Given the description of an element on the screen output the (x, y) to click on. 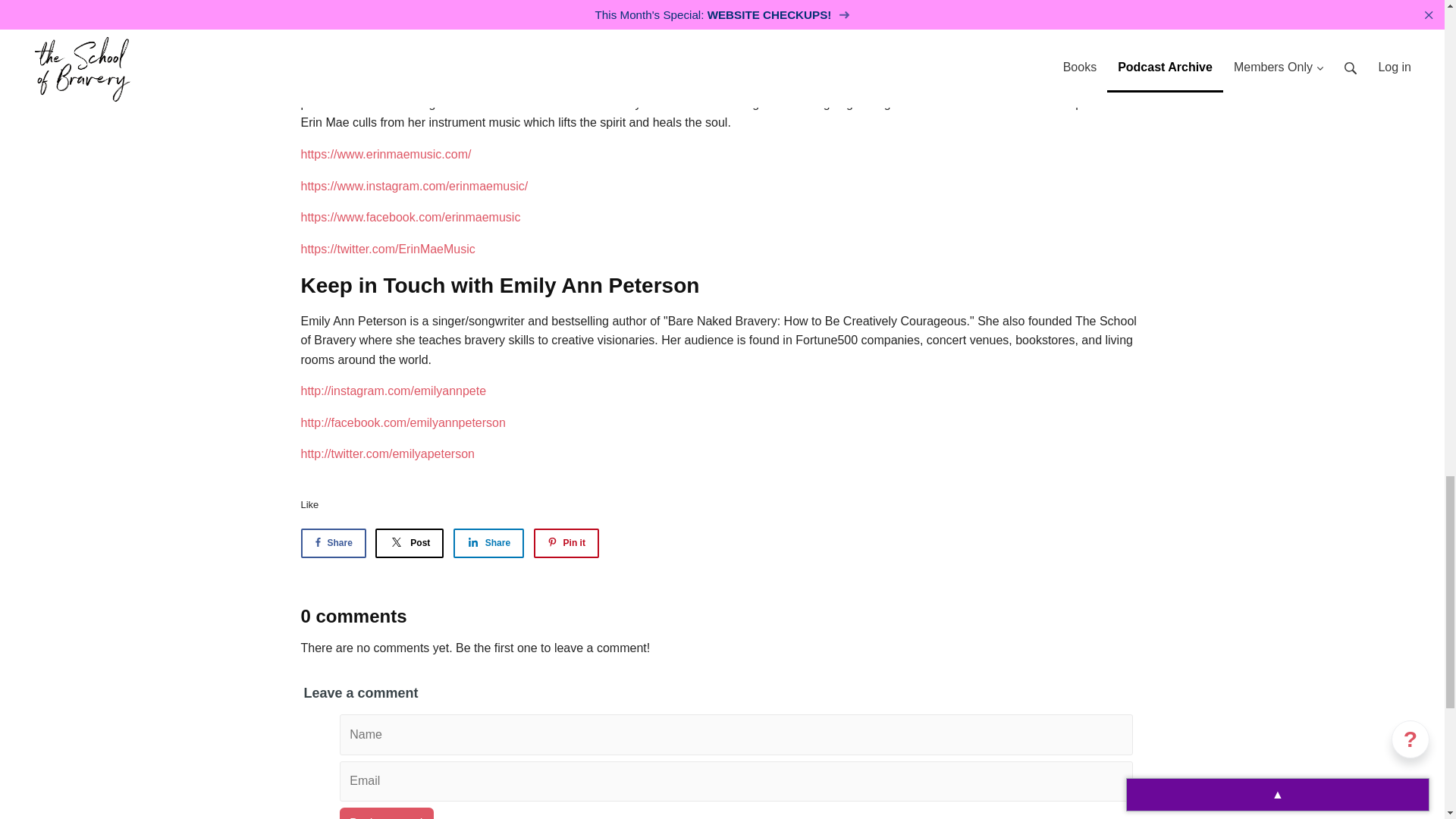
Share (332, 542)
Like (308, 504)
Share (488, 542)
Pin it (566, 542)
Pin on Pinterest (566, 542)
Post (409, 542)
Share on Facebook (332, 542)
Post comment (386, 813)
Share on LinkedIn (488, 542)
Post on X (409, 542)
